Given the description of an element on the screen output the (x, y) to click on. 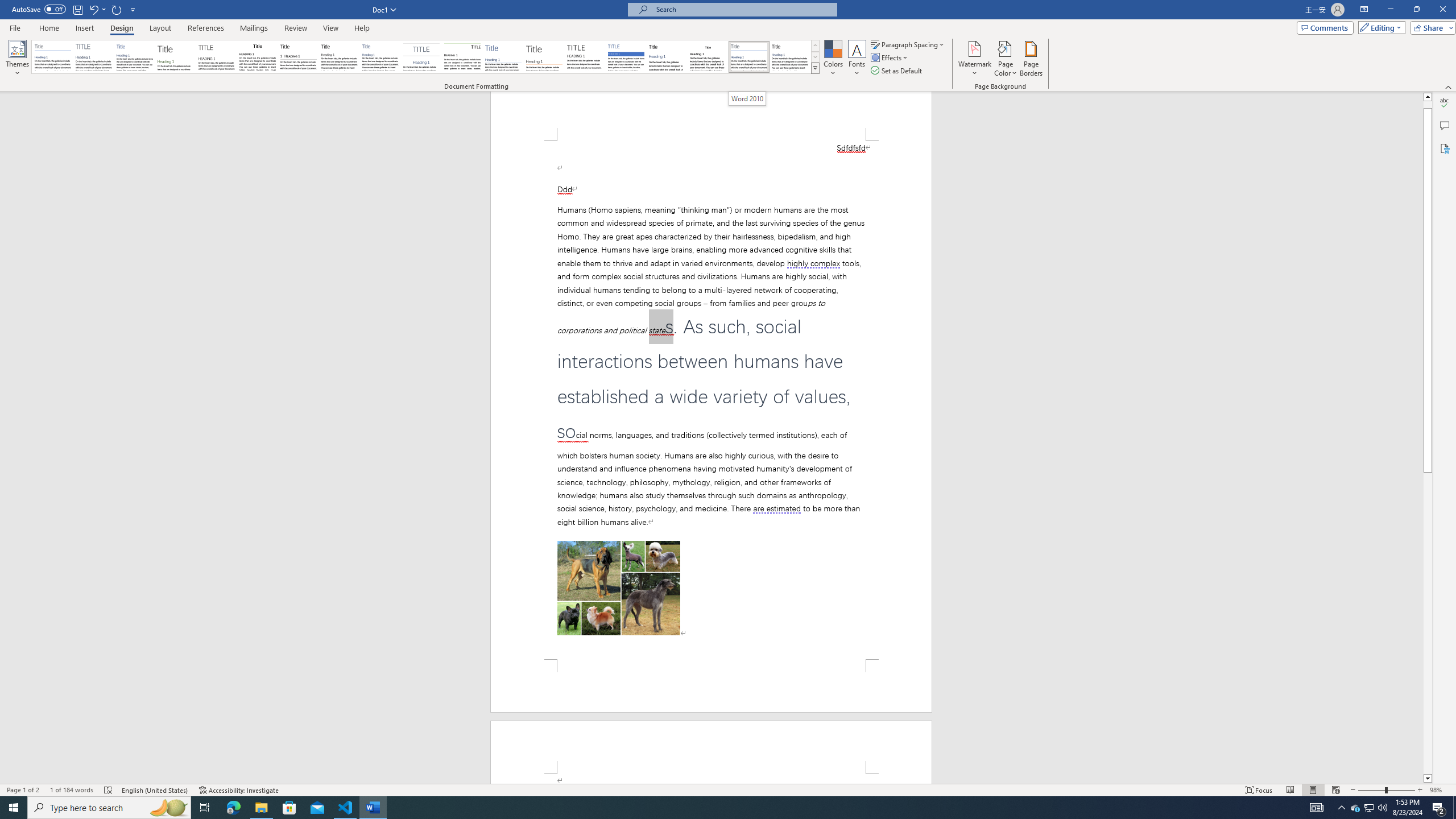
Basic (Stylish) (175, 56)
Page Number Page 1 of 2 (22, 790)
Minimalist (584, 56)
Word 2013 (790, 56)
Undo Apply Quick Style Set (96, 9)
Set as Default (897, 69)
Colors (832, 58)
